Given the description of an element on the screen output the (x, y) to click on. 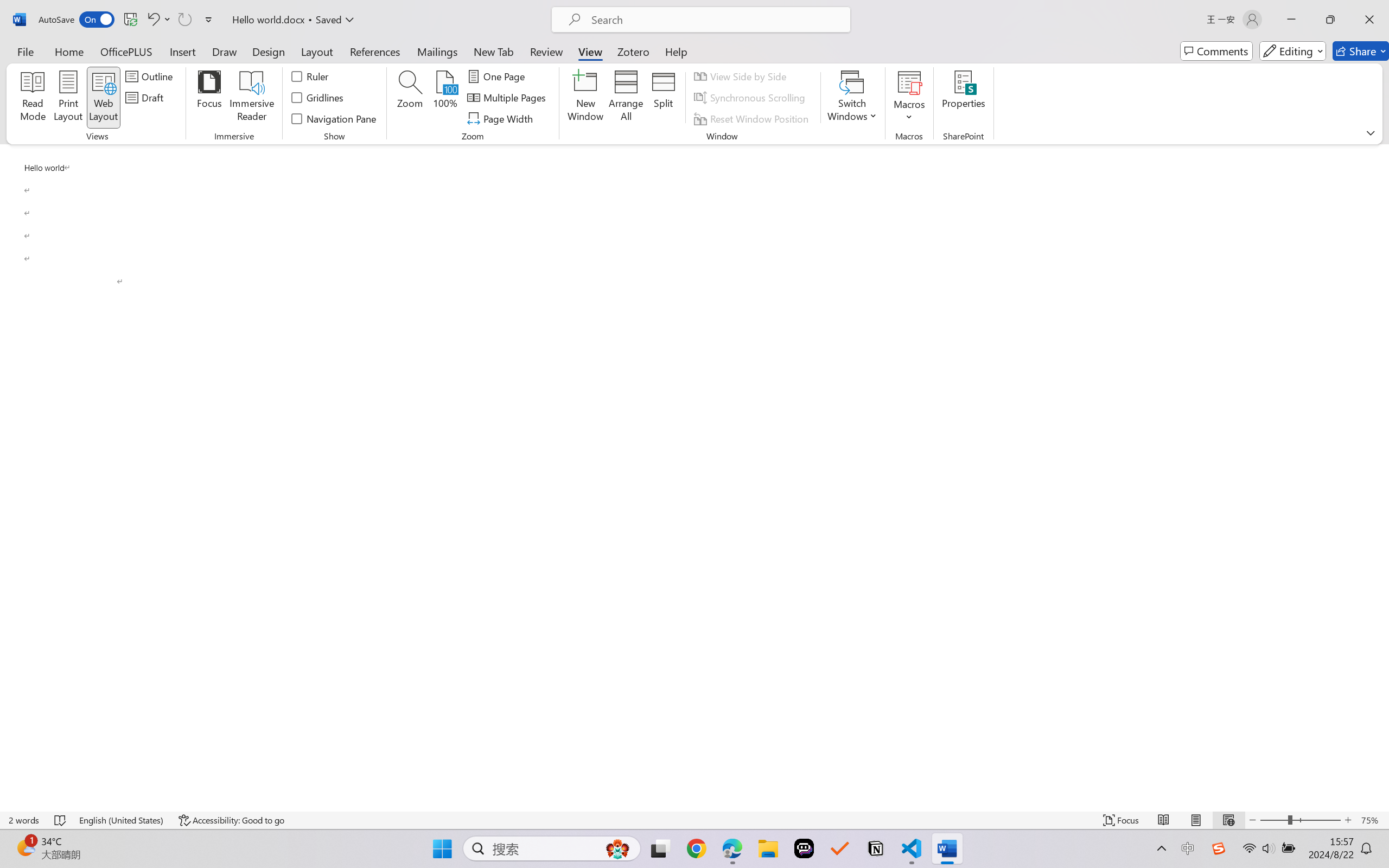
Class: MsoCommandBar (694, 819)
Home (69, 51)
Can't Repeat (184, 19)
New Window (585, 97)
Quick Access Toolbar (127, 19)
More Options (909, 112)
Zoom 75% (1372, 819)
OfficePLUS (126, 51)
Multiple Pages (507, 97)
Editing (1292, 50)
Print Layout (1196, 819)
Review (546, 51)
Save (130, 19)
Outline (150, 75)
Synchronous Scrolling (751, 97)
